Given the description of an element on the screen output the (x, y) to click on. 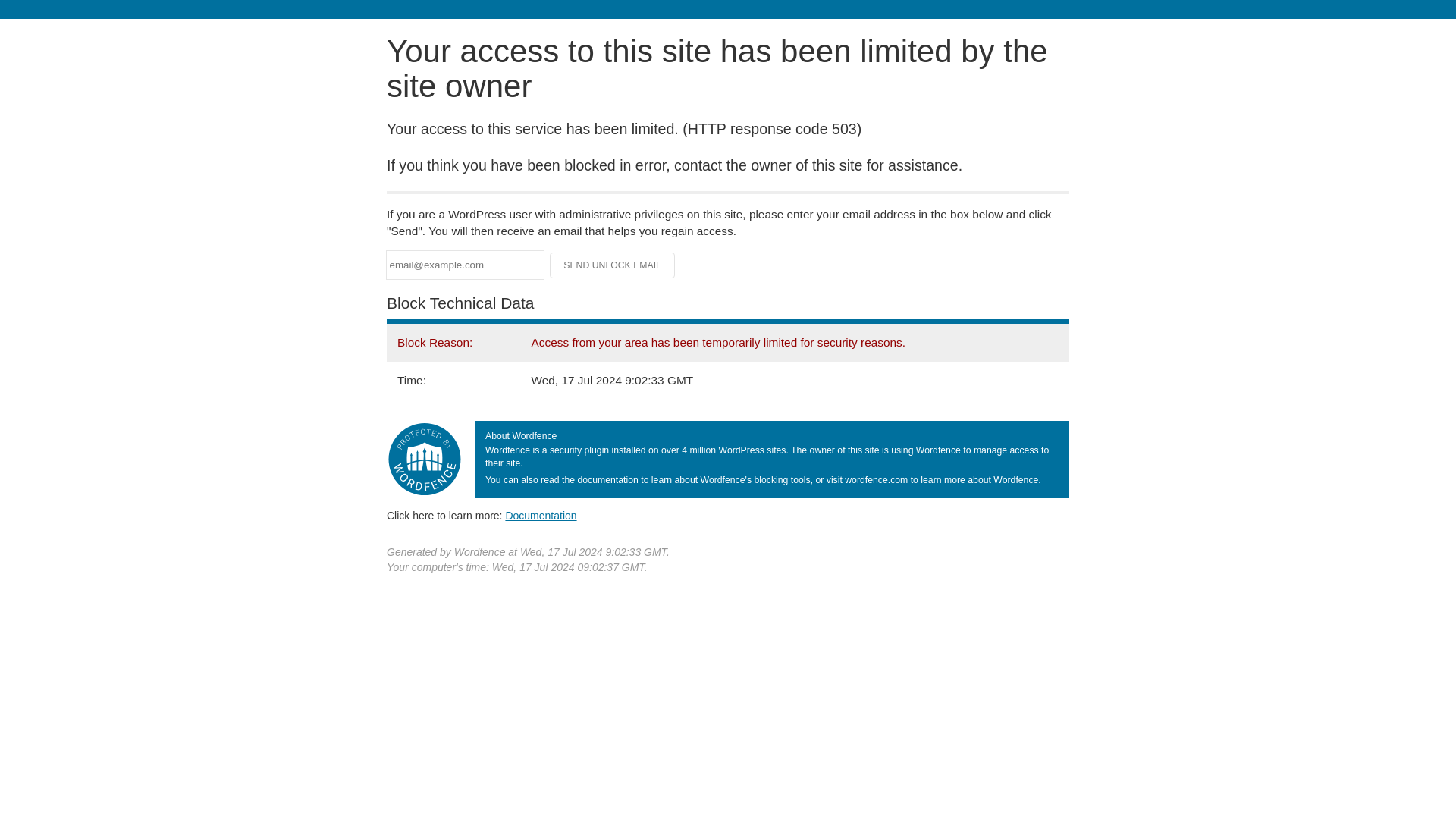
Documentation (540, 515)
Send Unlock Email (612, 265)
Send Unlock Email (612, 265)
